Given the description of an element on the screen output the (x, y) to click on. 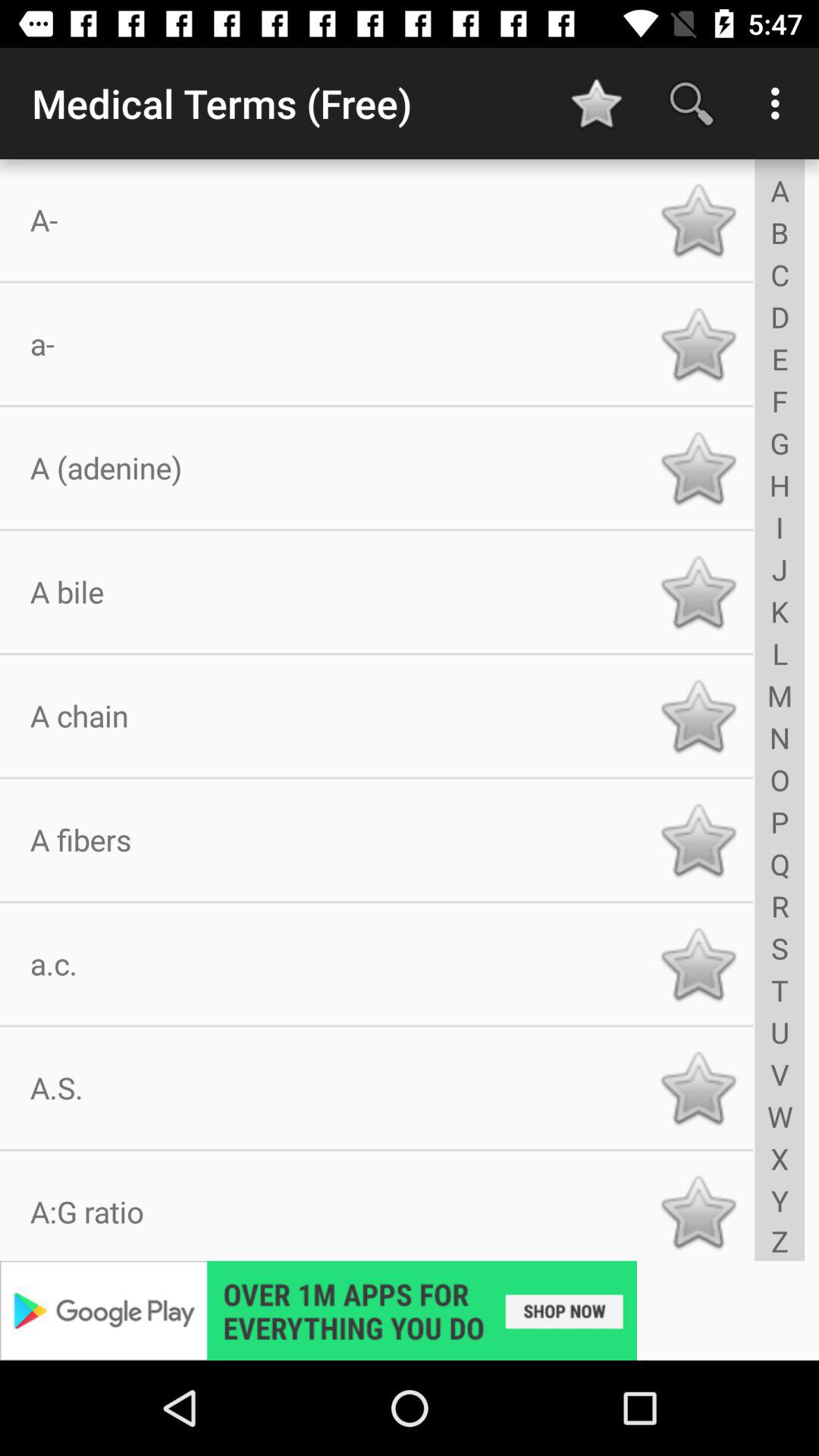
mark as a favorite (697, 468)
